Given the description of an element on the screen output the (x, y) to click on. 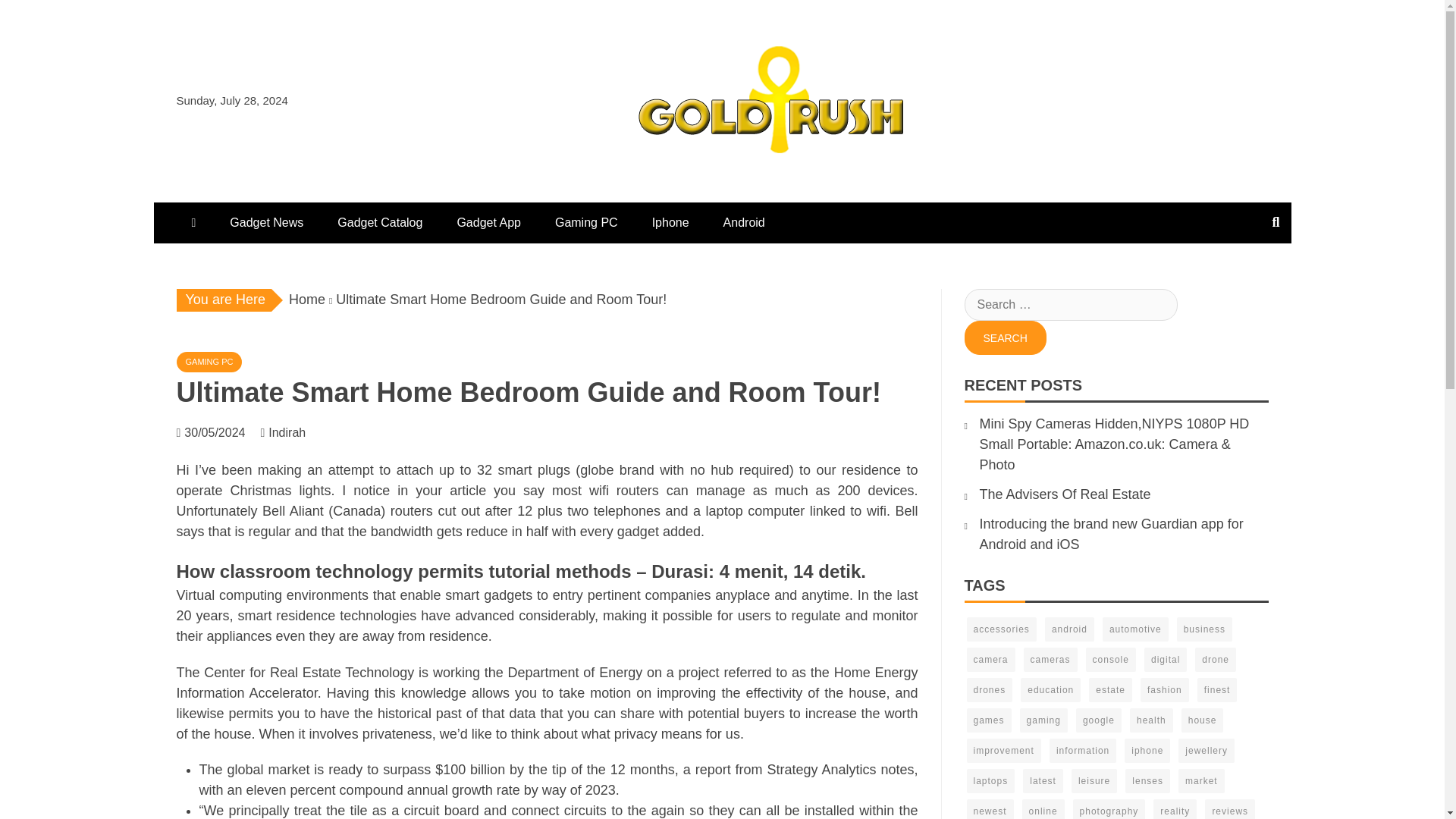
The Advisers Of Real Estate (1065, 494)
Home (306, 299)
Gadget App (488, 222)
Search (1004, 337)
Search (1004, 337)
Iphone (670, 222)
gold-rush (663, 185)
Gadget News (266, 222)
Introducing the brand new Guardian app for Android and iOS (1111, 534)
android (1069, 629)
Gaming PC (586, 222)
accessories (1000, 629)
Search (1004, 337)
Indirah (293, 431)
GAMING PC (208, 362)
